Given the description of an element on the screen output the (x, y) to click on. 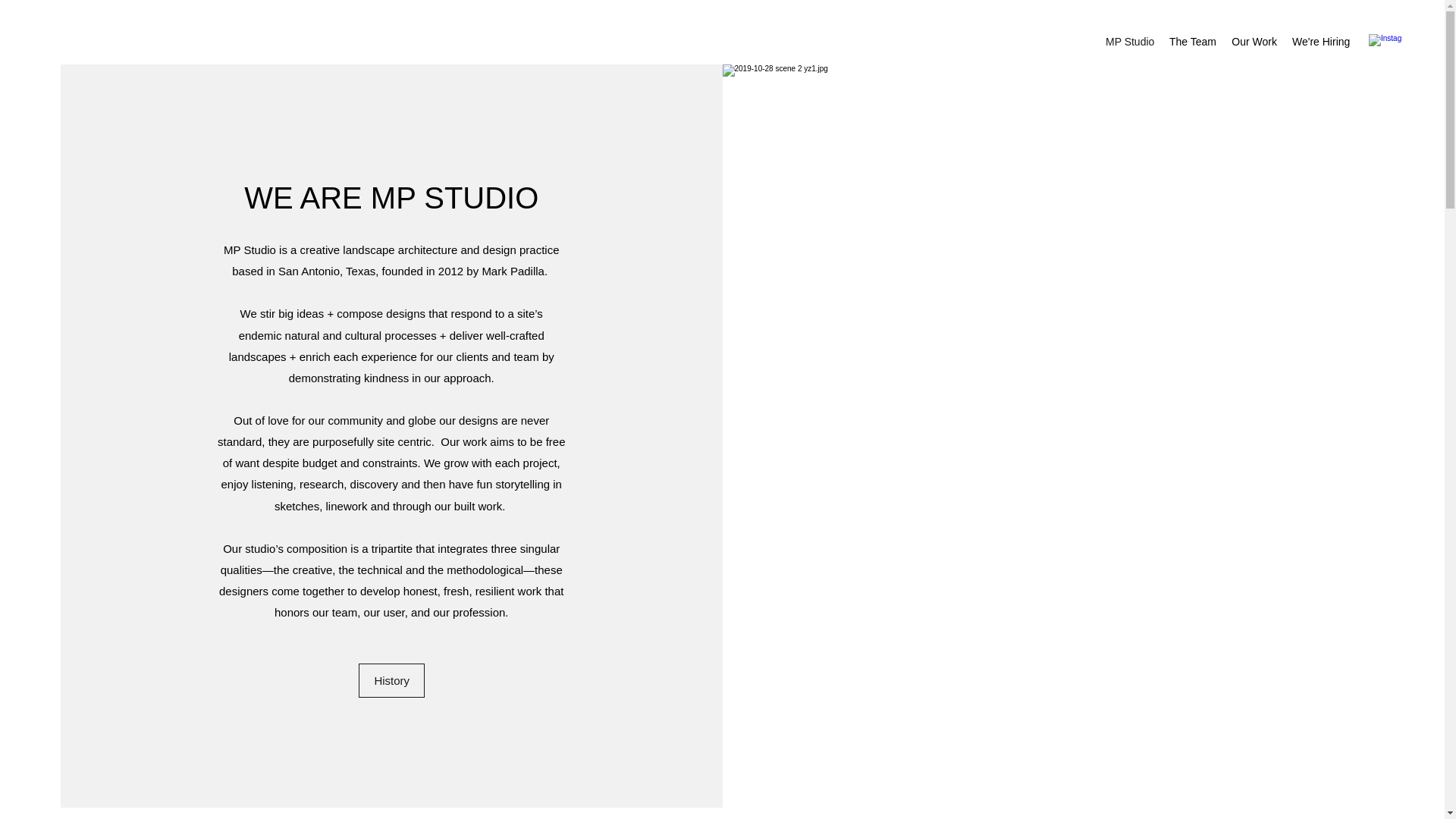
We're Hiring (1320, 41)
Our Work (1254, 41)
MP Studio (1129, 41)
The Team (1192, 41)
History (391, 680)
